Given the description of an element on the screen output the (x, y) to click on. 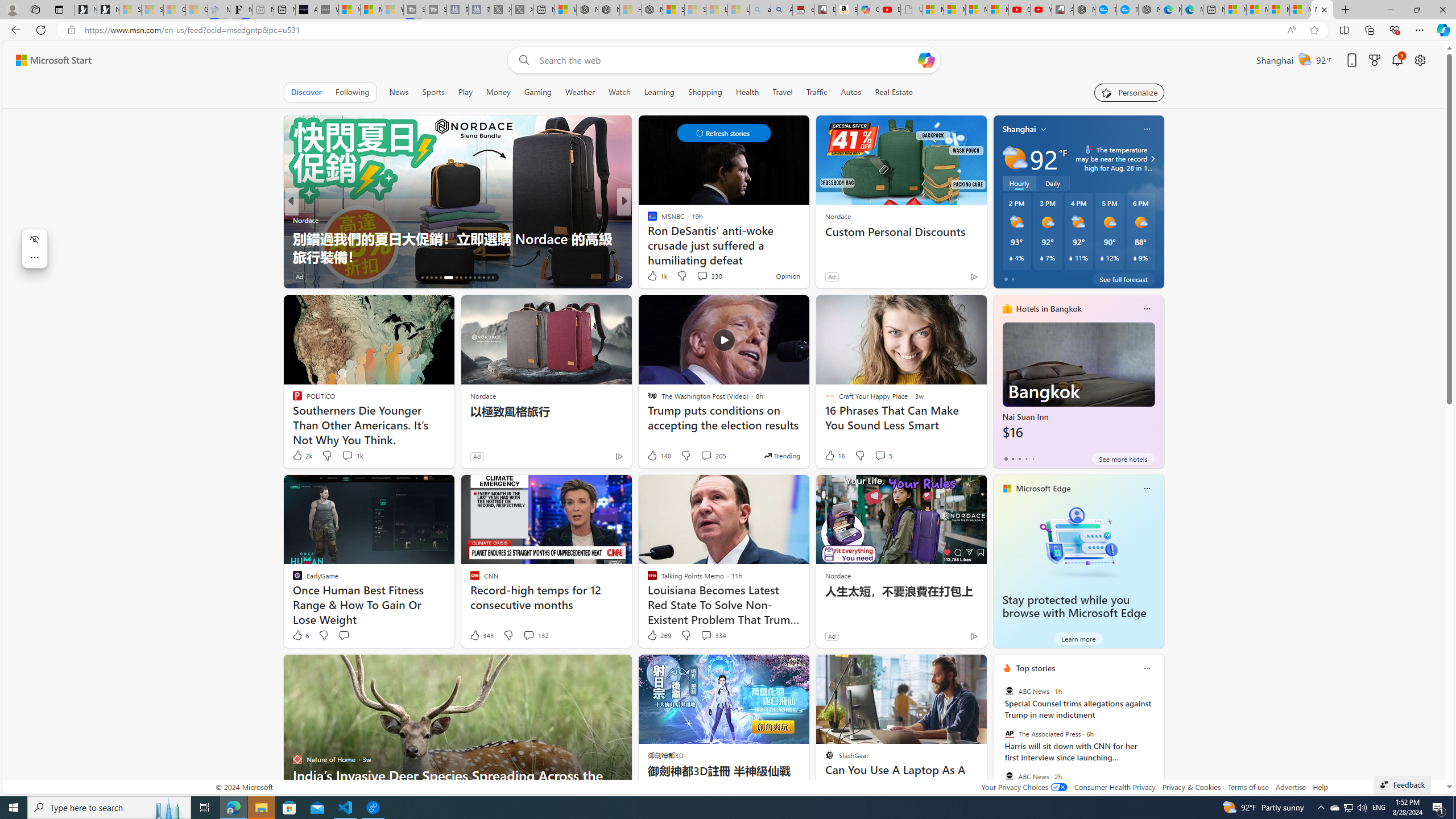
Copilot (868, 9)
previous (998, 741)
Personalize your feed" (1129, 92)
AutomationID: tab-27 (478, 277)
AutomationID: tab-25 (470, 277)
This story is trending (781, 455)
